Given the description of an element on the screen output the (x, y) to click on. 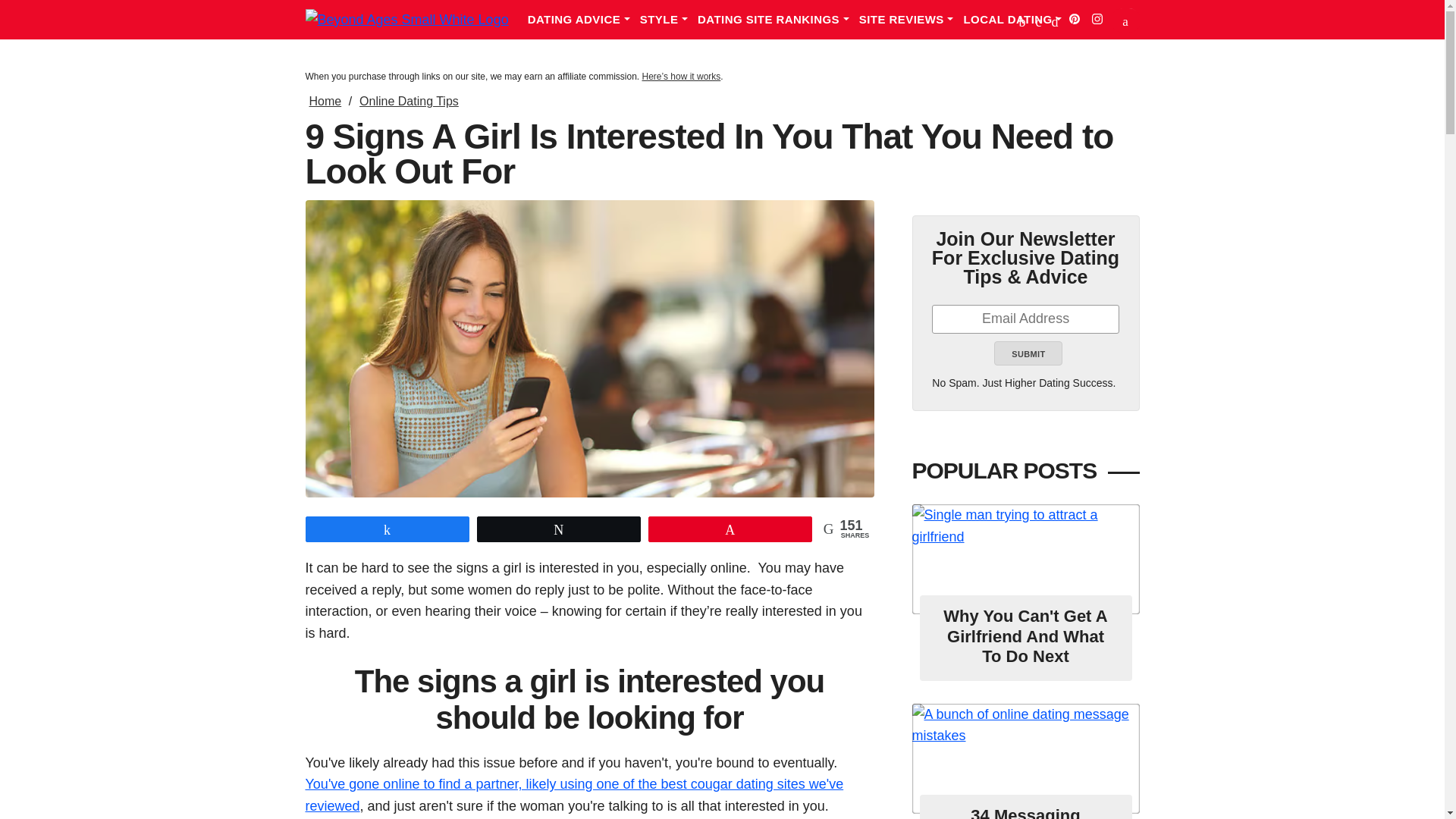
DATING ADVICE (583, 19)
Dating Site Rankings (778, 19)
DATING SITE RANKINGS (778, 19)
Submit (1028, 353)
Dating Advice (583, 19)
SITE REVIEWS (911, 19)
Site Reviews (911, 19)
STYLE (668, 19)
Pinterest icon (1074, 18)
Style (668, 19)
